Given the description of an element on the screen output the (x, y) to click on. 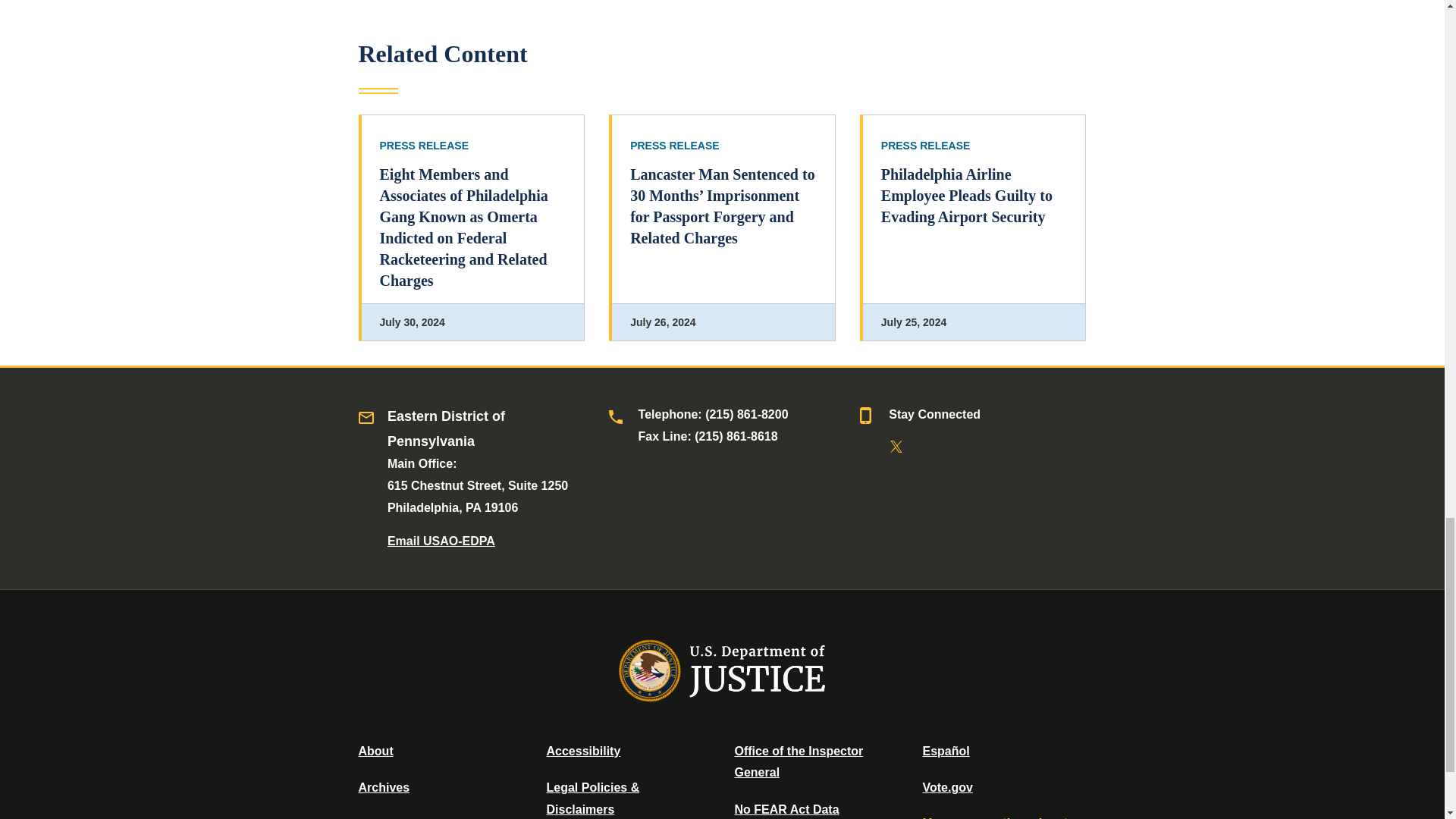
About DOJ (375, 750)
Data Posted Pursuant To The No Fear Act (785, 809)
Accessibility Statement (583, 750)
Legal Policies and Disclaimers (592, 798)
Department of Justice Archive (383, 787)
